Given the description of an element on the screen output the (x, y) to click on. 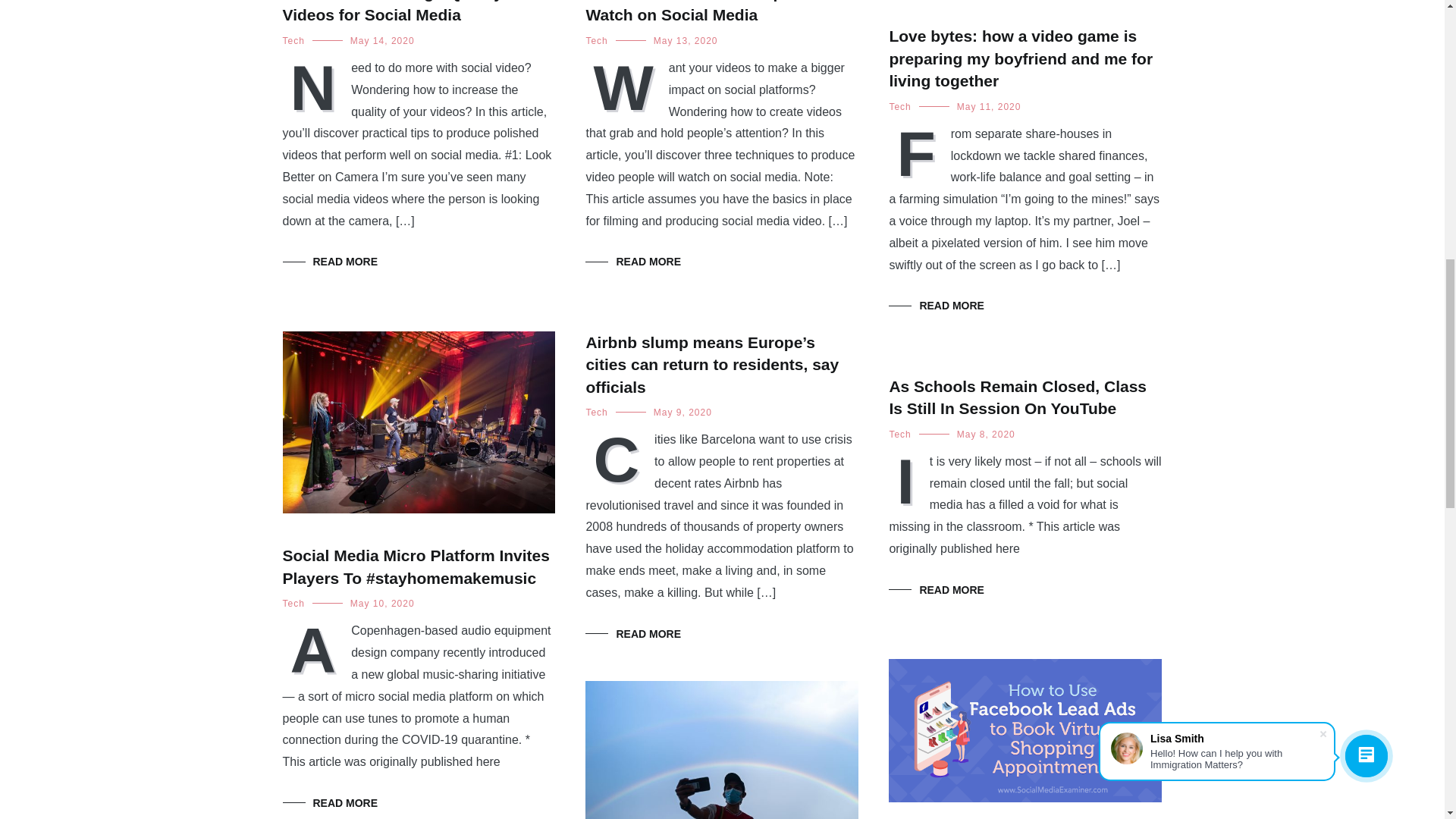
C (619, 457)
W (626, 85)
N (316, 85)
May 14, 2020 (382, 40)
Tech (293, 40)
READ MORE (329, 261)
How to Produce High-Quality Videos for Social Media (392, 11)
F (919, 151)
A (316, 648)
How to Make Videos People Will Watch on Social Media (706, 11)
